Given the description of an element on the screen output the (x, y) to click on. 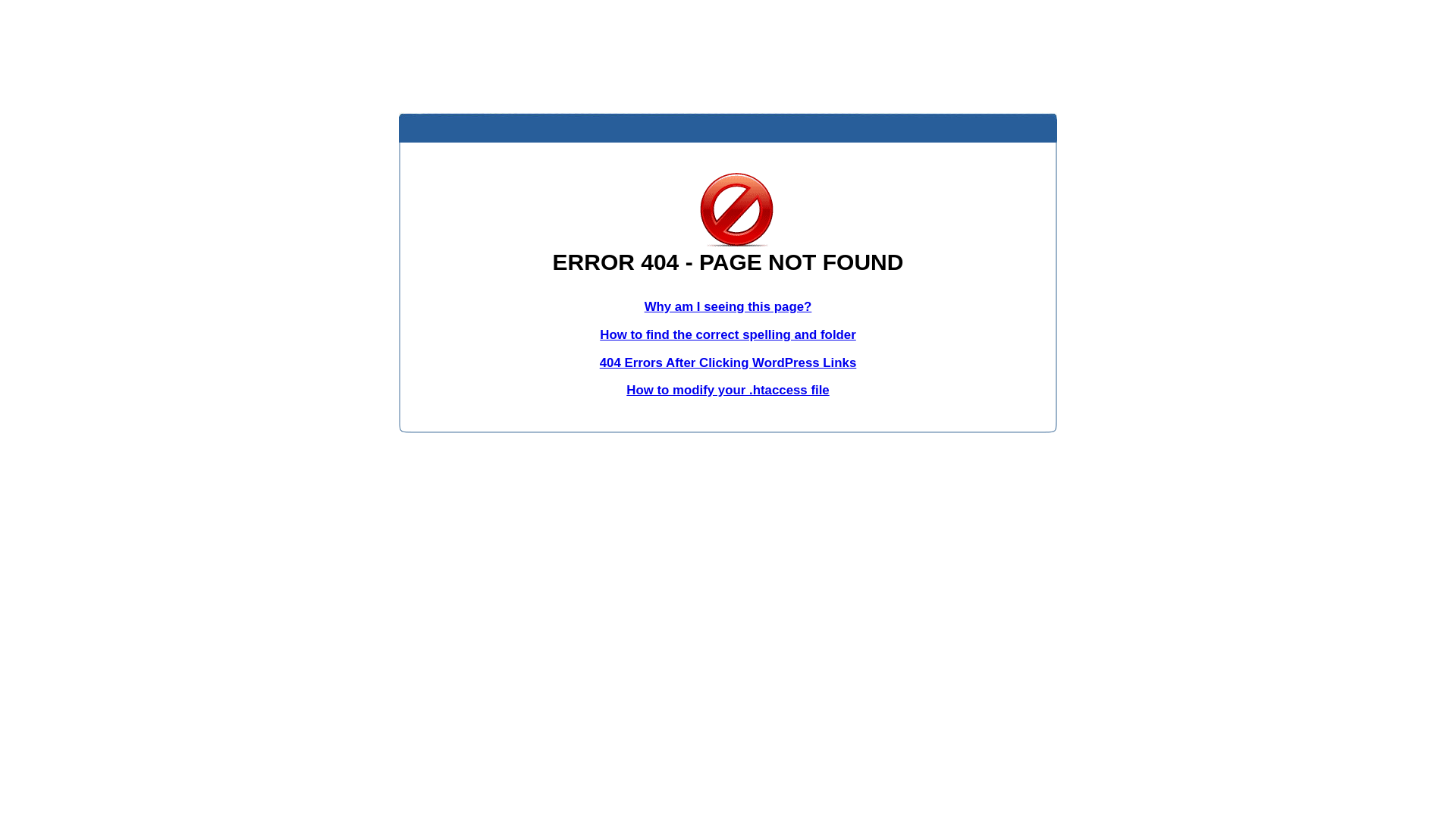
How to find the correct spelling and folder Element type: text (727, 334)
Why am I seeing this page? Element type: text (728, 306)
How to modify your .htaccess file Element type: text (727, 389)
404 Errors After Clicking WordPress Links Element type: text (727, 362)
